Given the description of an element on the screen output the (x, y) to click on. 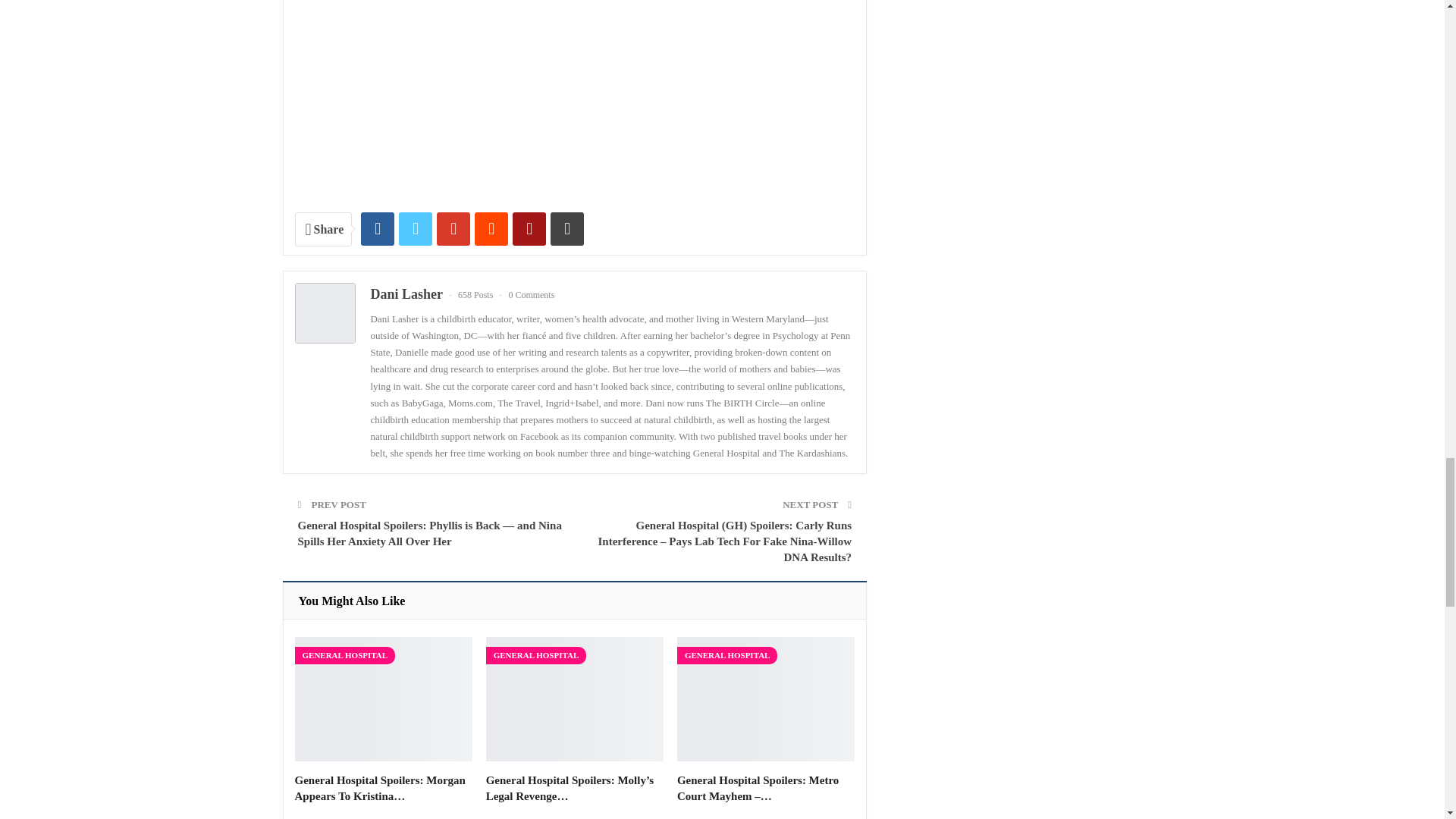
You Might Also Like (352, 600)
Dani Lasher (405, 294)
